Given the description of an element on the screen output the (x, y) to click on. 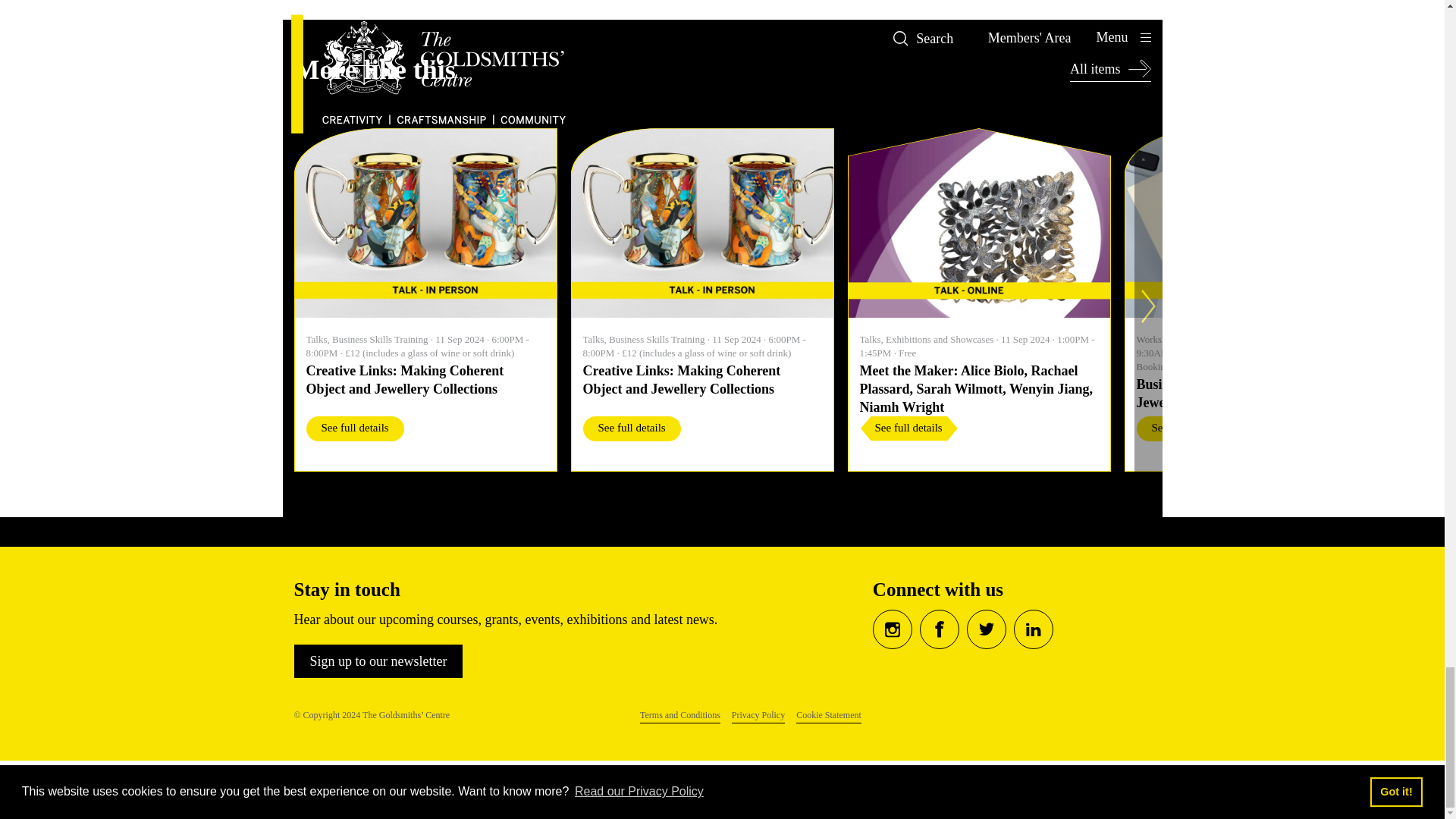
Terms and Conditions (680, 716)
All items (1110, 69)
Sign up to our newsletter (378, 661)
